Given the description of an element on the screen output the (x, y) to click on. 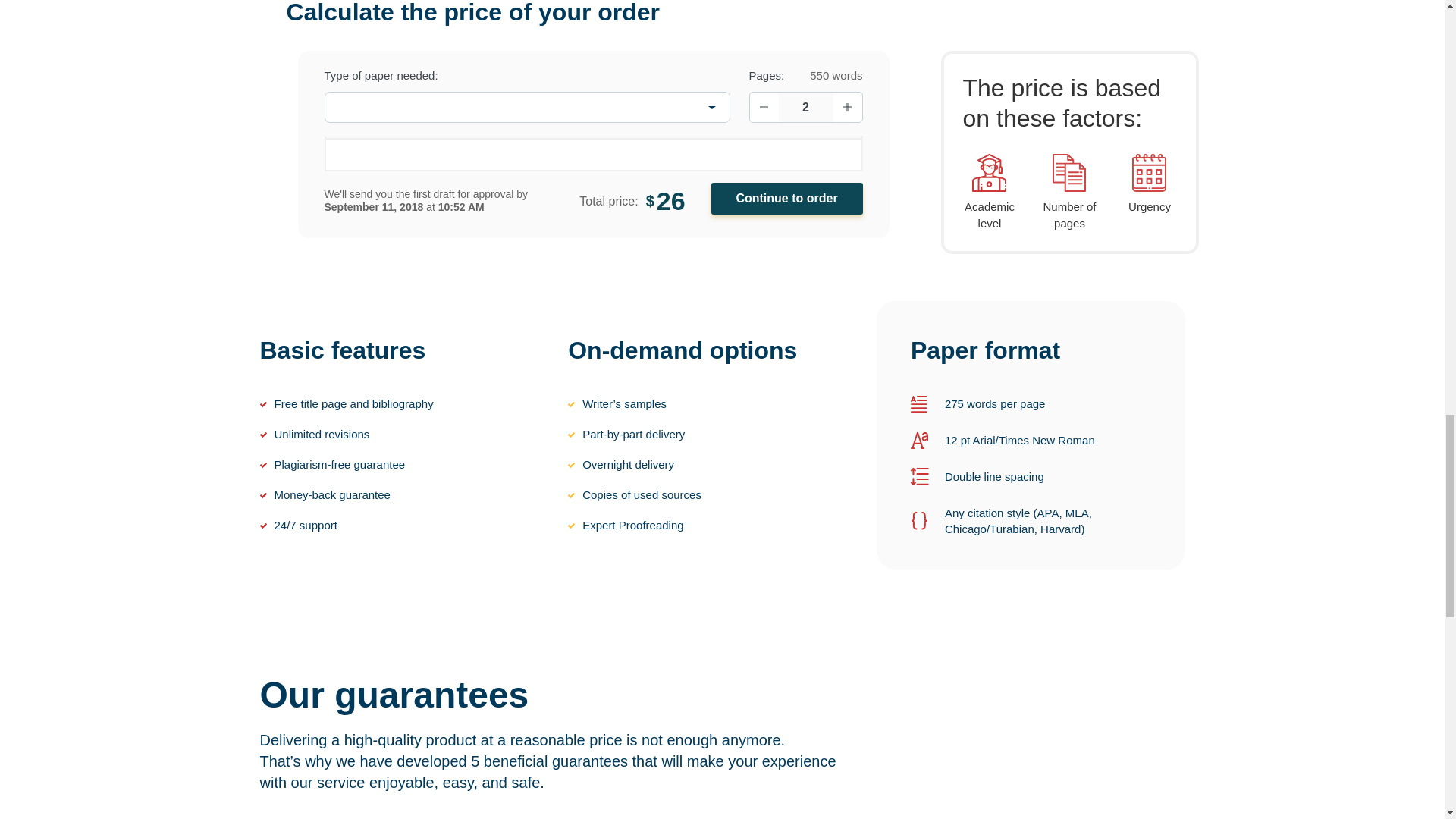
Continue to Order (787, 198)
Increase (846, 107)
Decrease (763, 107)
2 (804, 107)
Continue to order (787, 198)
Continue to order (787, 198)
